Given the description of an element on the screen output the (x, y) to click on. 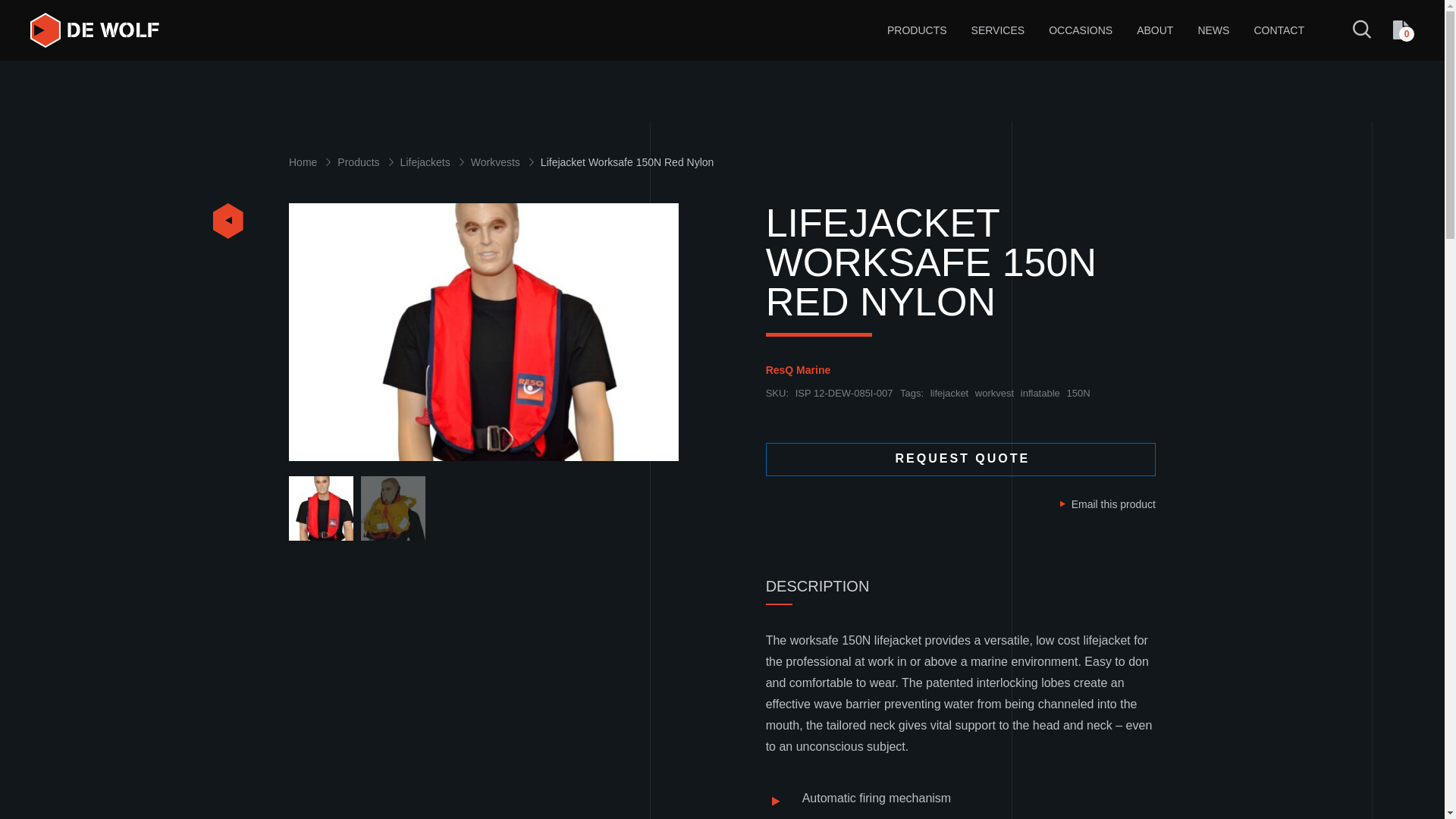
Workvests (505, 162)
ABOUT (1155, 30)
Go to De Wolf Maritime Safety. (312, 162)
Home (312, 162)
lifejacket (949, 393)
workvest (994, 393)
Go to Products. (367, 162)
SERVICES (998, 30)
0 (1403, 30)
CONTACT (1278, 30)
PRODUCTS (916, 30)
inflatable (1039, 393)
ResQ Marine (799, 369)
Lifejackets (435, 162)
Bekijk uw offerte (1403, 30)
